Given the description of an element on the screen output the (x, y) to click on. 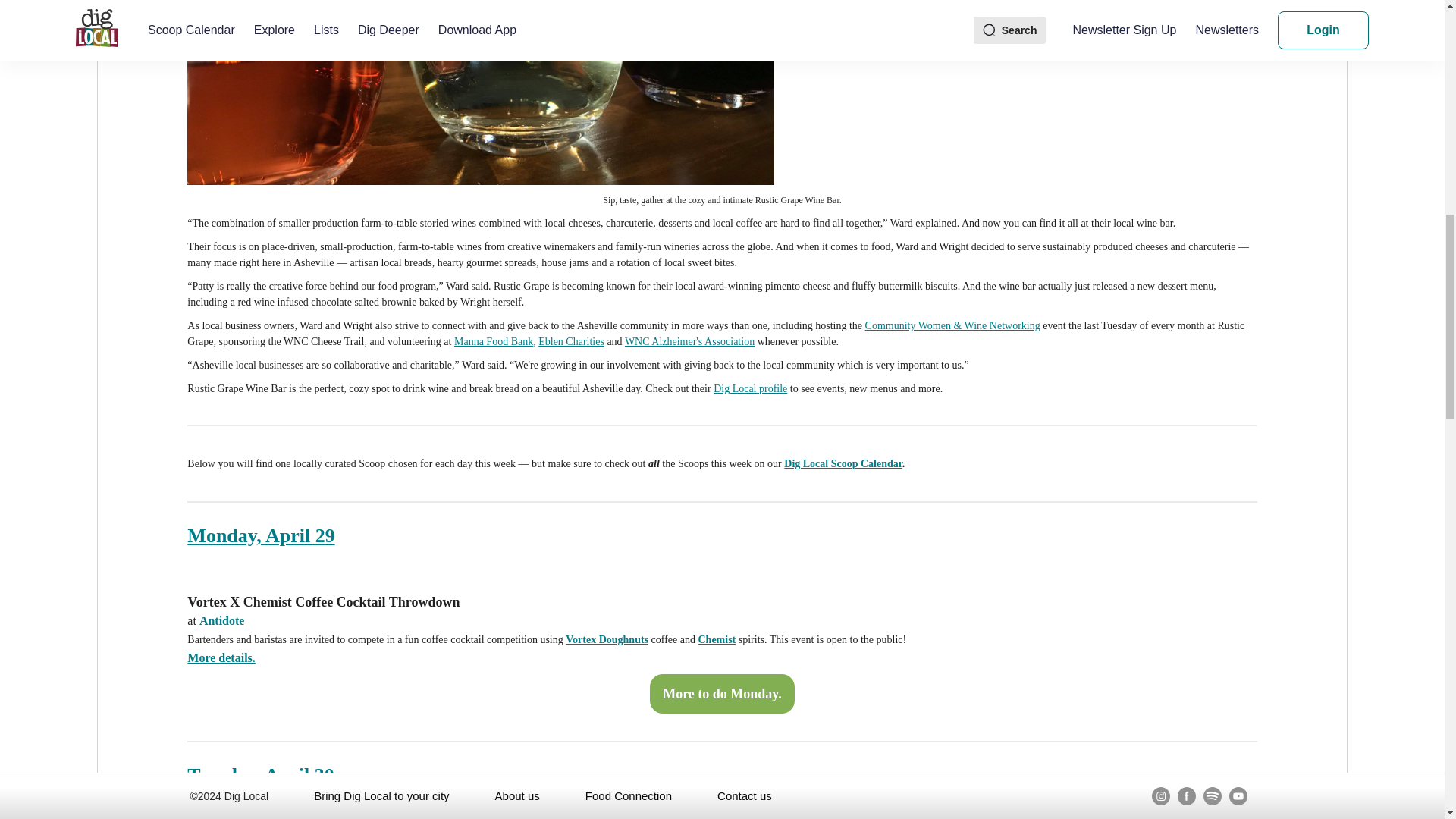
Vortex Doughnuts (606, 639)
Dig Local profile (750, 388)
More details. (220, 657)
Manna Food Bank (493, 341)
Tuesday, April 30 (260, 774)
More to do Monday. (721, 694)
Monday, April 29 (260, 535)
Chemist (716, 639)
WNC Alzheimer's Association (689, 341)
Eblen Charities (571, 341)
Dig Local Scoop Calendar (842, 463)
More to do Monday. (721, 694)
Antidote (221, 620)
